Given the description of an element on the screen output the (x, y) to click on. 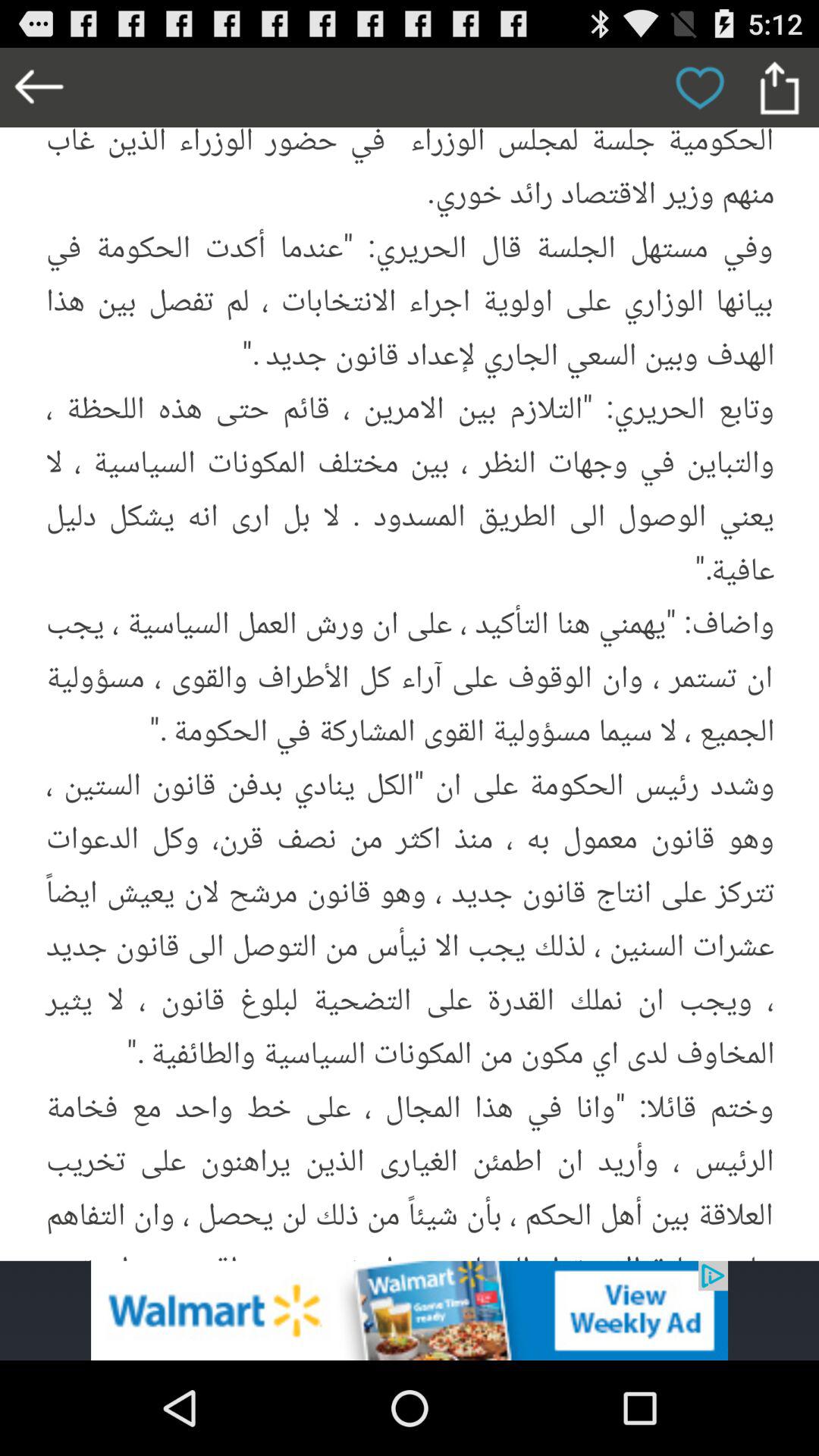
highlight all (409, 653)
